Given the description of an element on the screen output the (x, y) to click on. 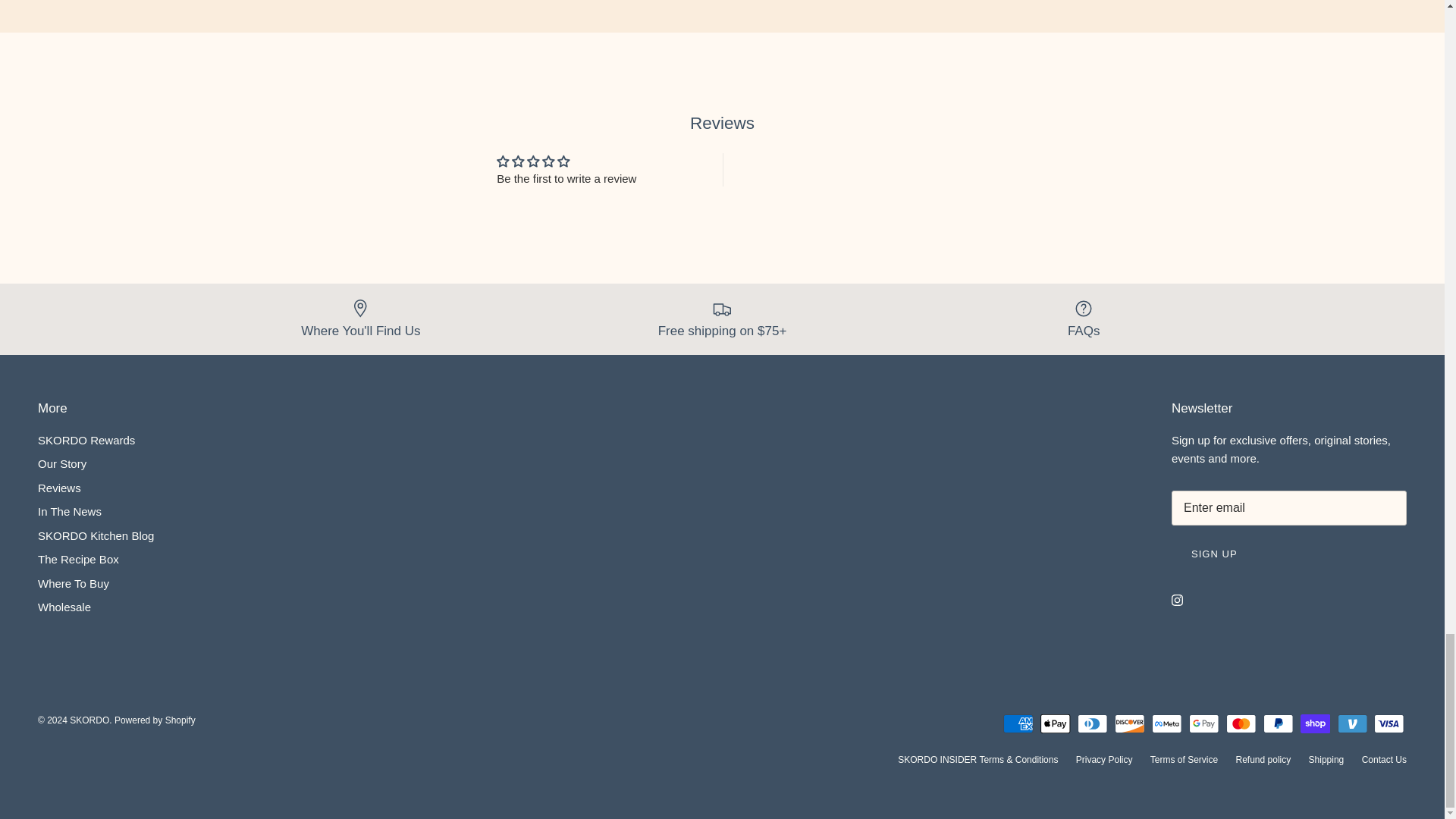
Discover (1129, 723)
Apple Pay (1055, 723)
American Express (1018, 723)
Diners Club (1092, 723)
Instagram (1177, 600)
